Given the description of an element on the screen output the (x, y) to click on. 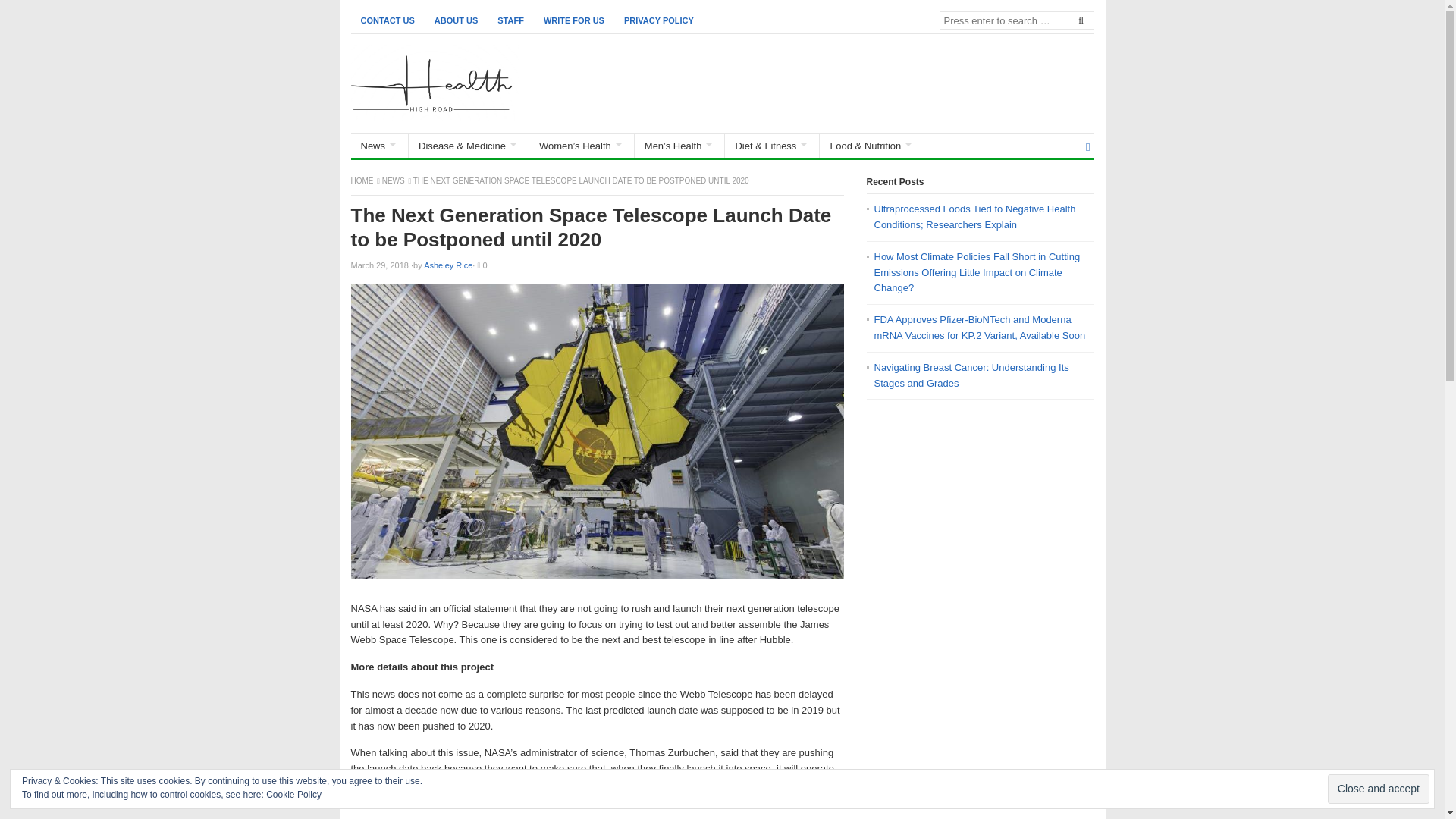
Close and accept (1378, 788)
WRITE FOR US (574, 20)
Search for: (1016, 20)
STAFF (510, 20)
News (393, 180)
PRIVACY POLICY (658, 20)
CONTACT US (386, 20)
Health Highroad (362, 180)
ABOUT US (456, 20)
